Given the description of an element on the screen output the (x, y) to click on. 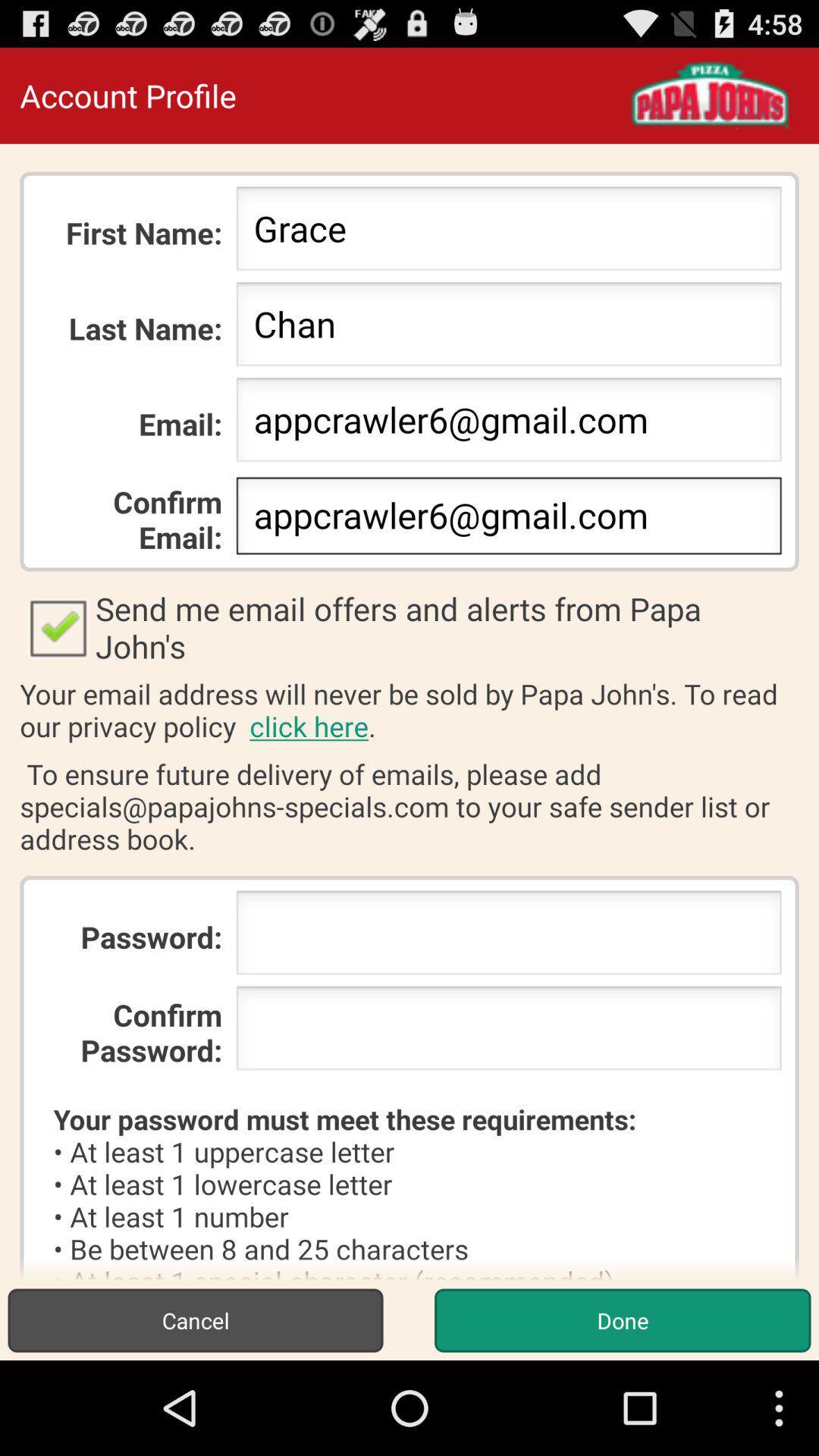
password creating option (508, 937)
